Given the description of an element on the screen output the (x, y) to click on. 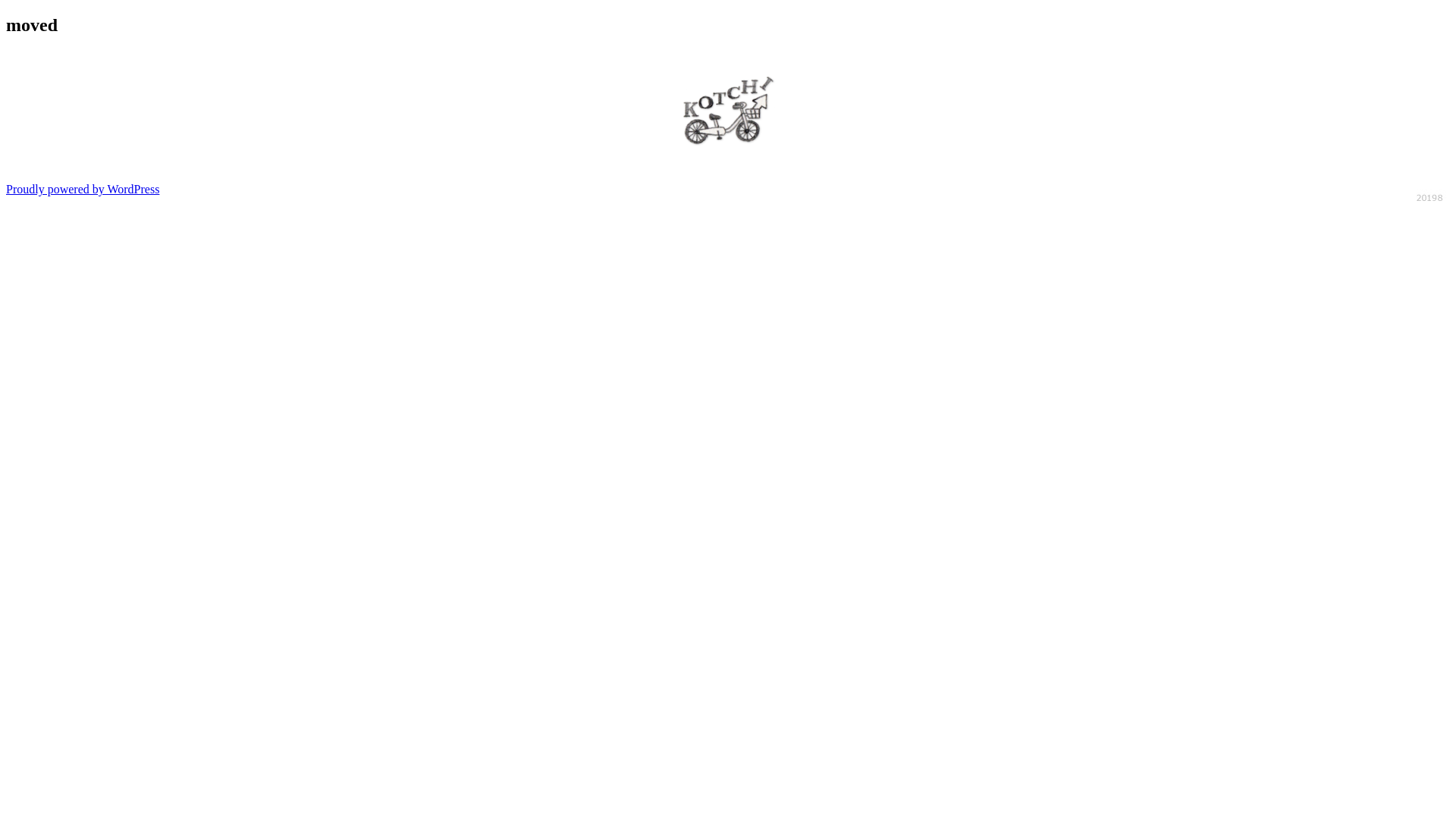
Proudly powered by WordPress Element type: text (82, 188)
